Given the description of an element on the screen output the (x, y) to click on. 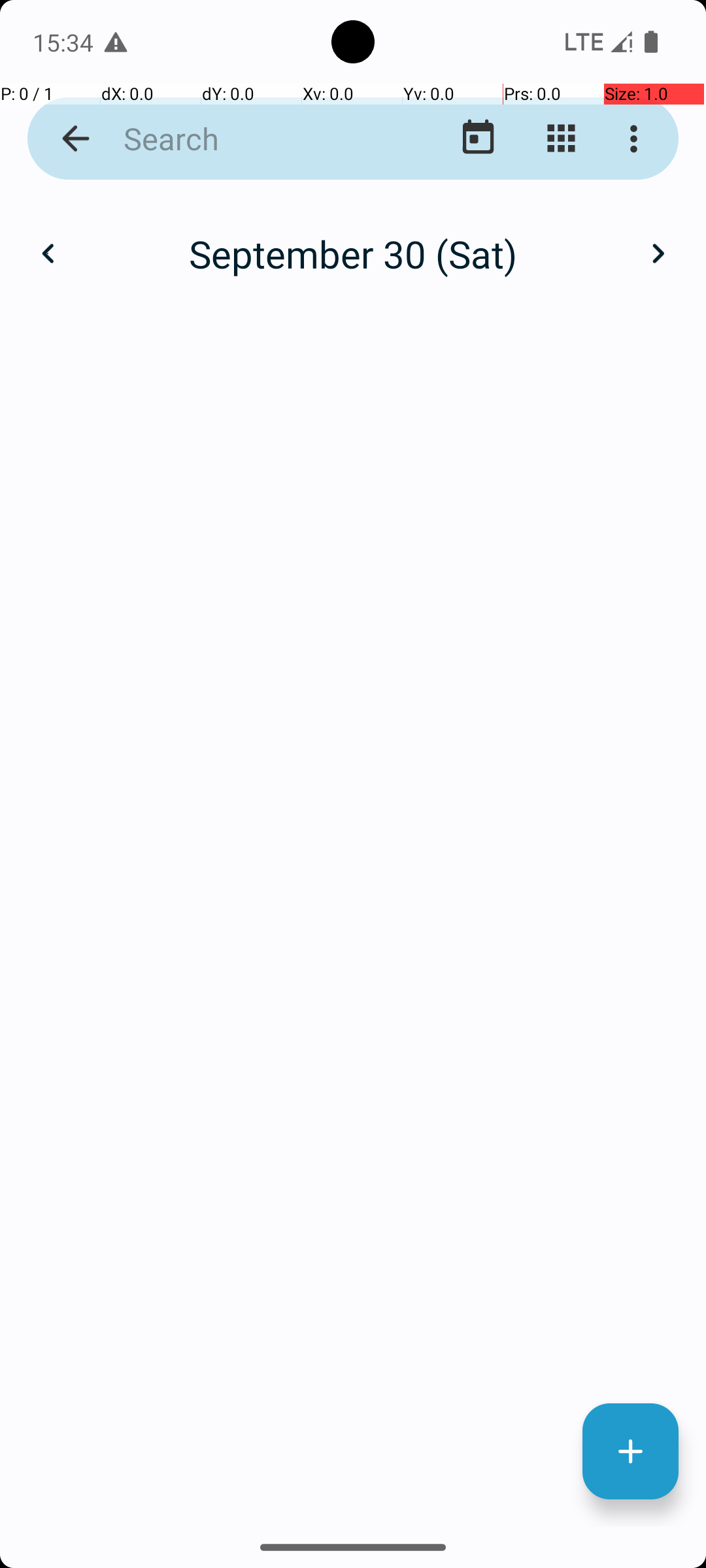
September 30 (Sat) Element type: android.widget.TextView (352, 253)
